Given the description of an element on the screen output the (x, y) to click on. 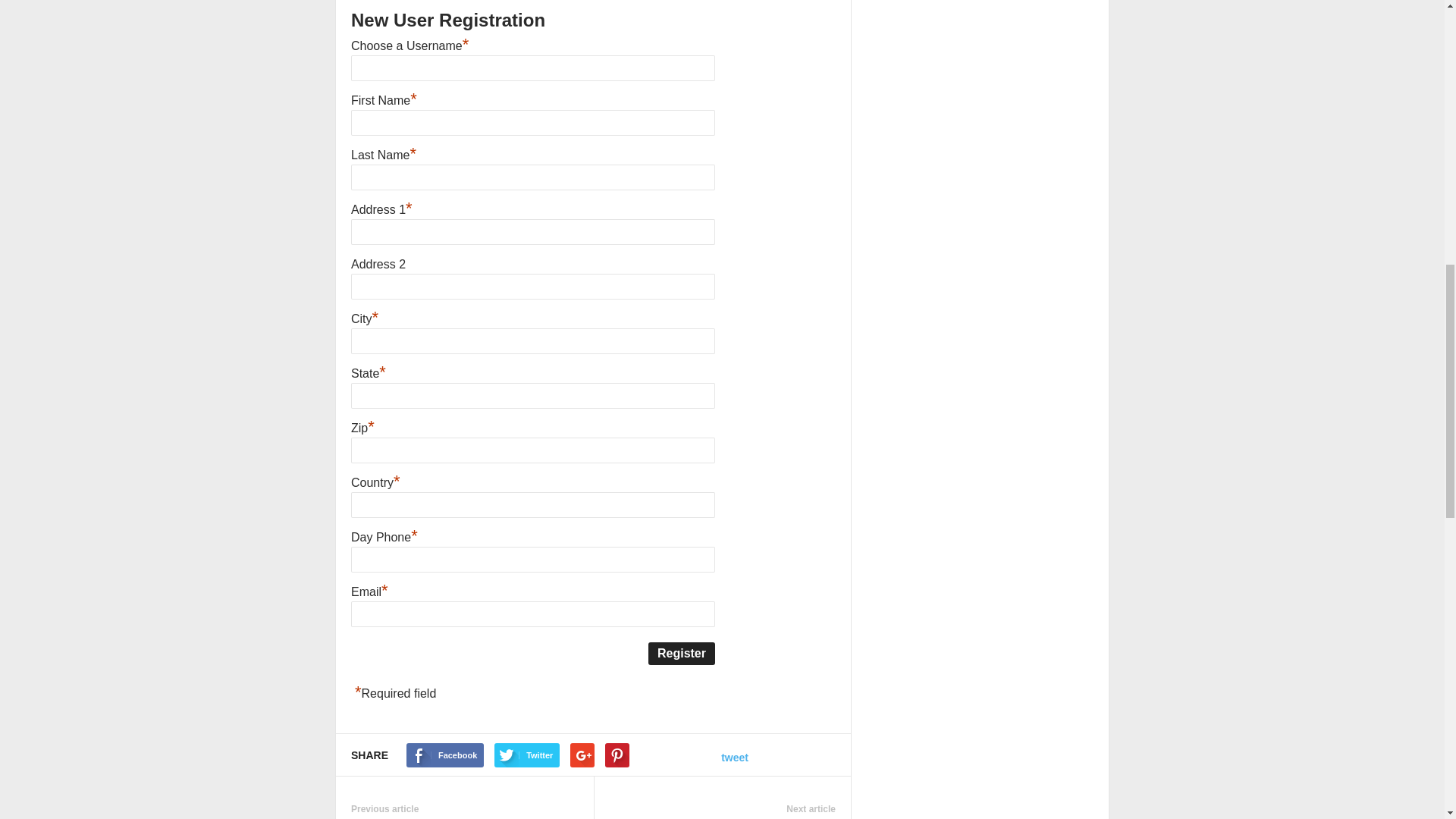
Register (680, 653)
